Given the description of an element on the screen output the (x, y) to click on. 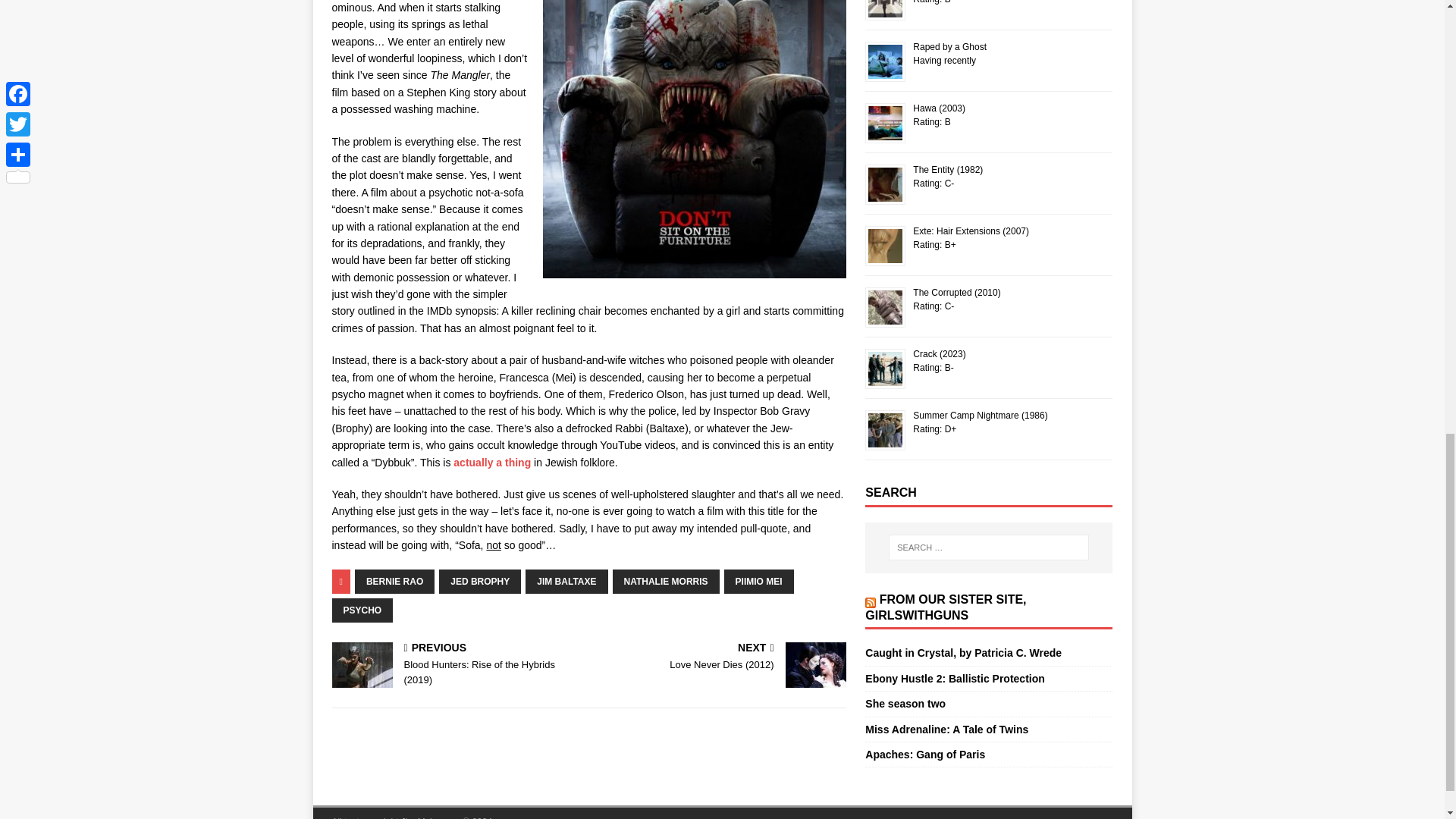
PSYCHO (362, 610)
NATHALIE MORRIS (665, 581)
PIIMIO MEI (758, 581)
JIM BALTAXE (566, 581)
JED BROPHY (480, 581)
BERNIE RAO (394, 581)
actually a thing (491, 462)
